Given the description of an element on the screen output the (x, y) to click on. 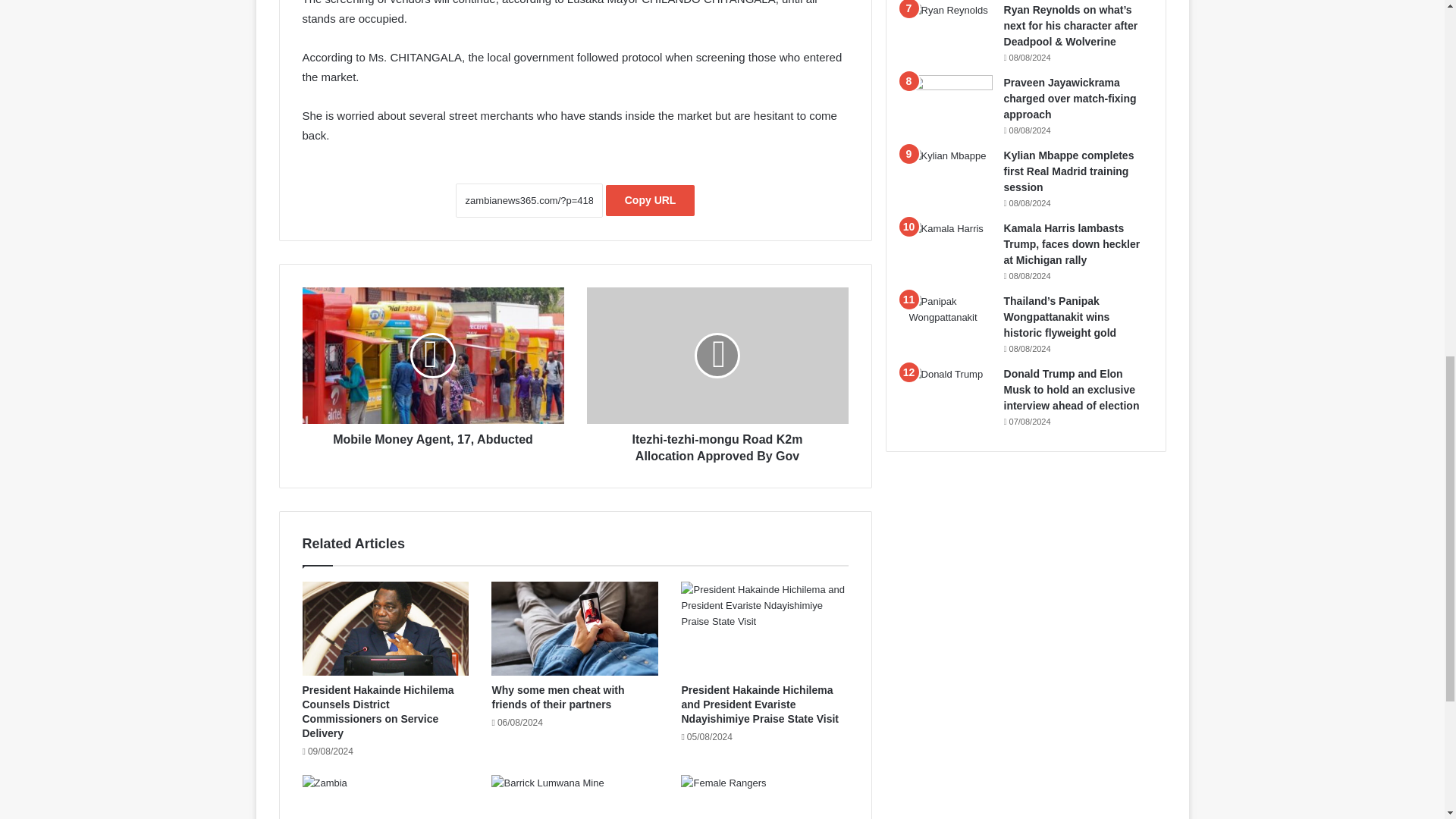
Why some men cheat with friends of their partners (558, 696)
Itezhi-tezhi-mongu Road K2m Allocation Approved By Gov (717, 355)
Itezhi-tezhi-mongu Road K2m Allocation Approved By Gov (717, 444)
Mobile Money Agent, 17, Abducted (432, 355)
Copy URL (650, 200)
Mobile Money Agent, 17, Abducted (432, 435)
